Given the description of an element on the screen output the (x, y) to click on. 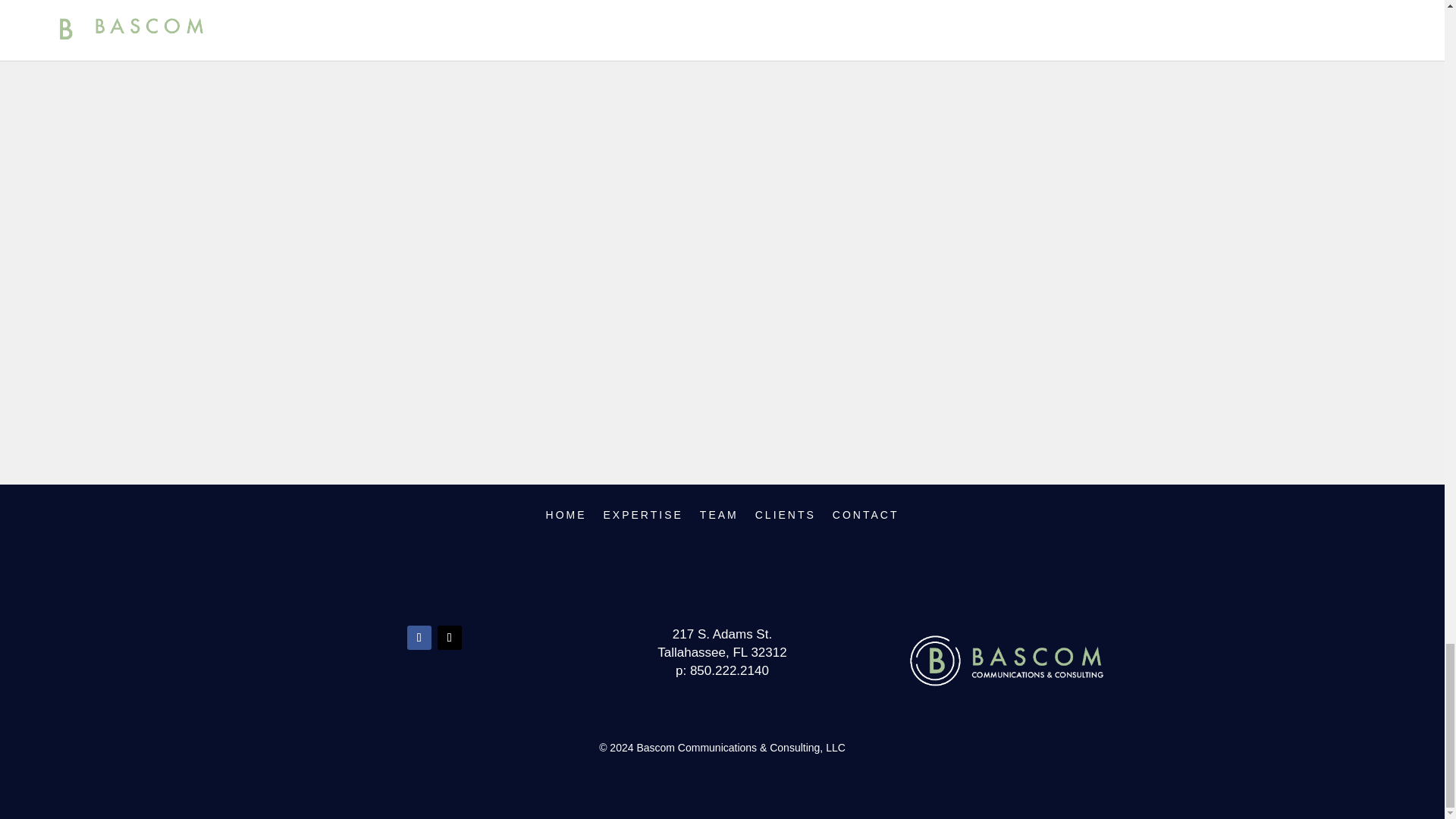
TEAM (719, 525)
CLIENTS (785, 525)
Follow on X (449, 637)
EXPERTISE (643, 525)
HOME (566, 525)
Follow on Facebook (418, 637)
CONTACT (865, 525)
